Given the description of an element on the screen output the (x, y) to click on. 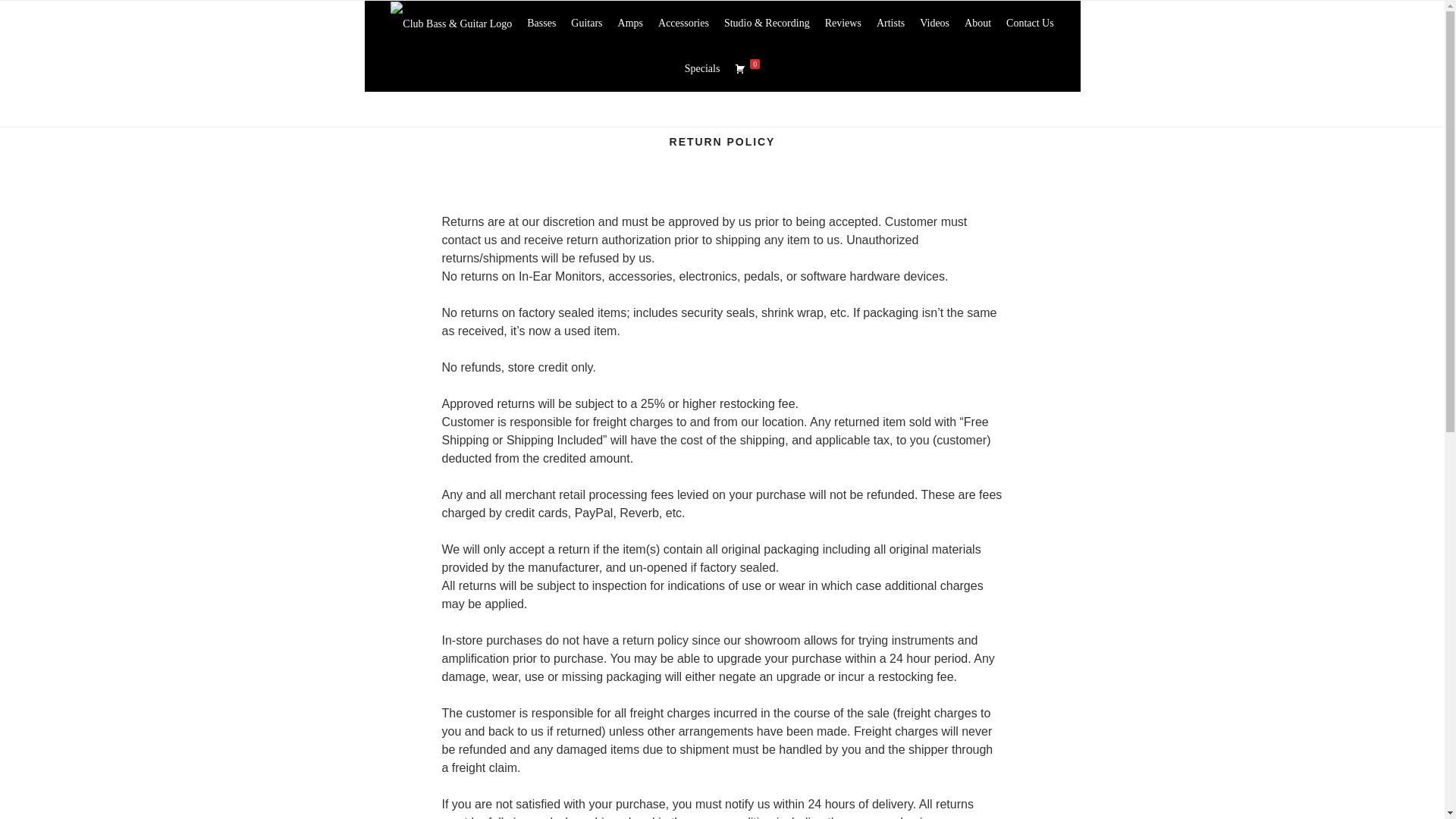
Guitars (586, 22)
Accessories (683, 22)
Basses (541, 22)
